Given the description of an element on the screen output the (x, y) to click on. 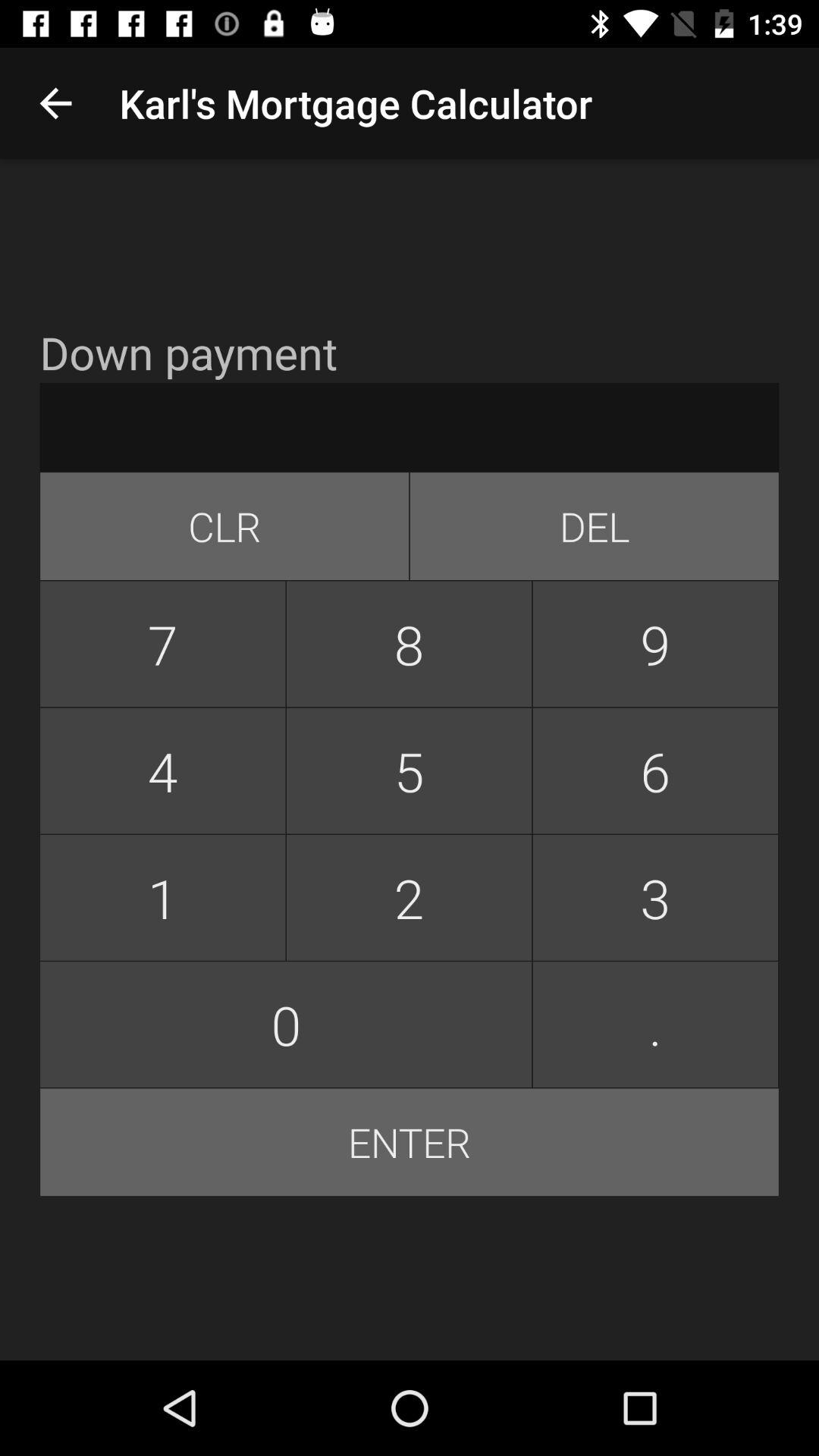
press button below 4 button (162, 897)
